Given the description of an element on the screen output the (x, y) to click on. 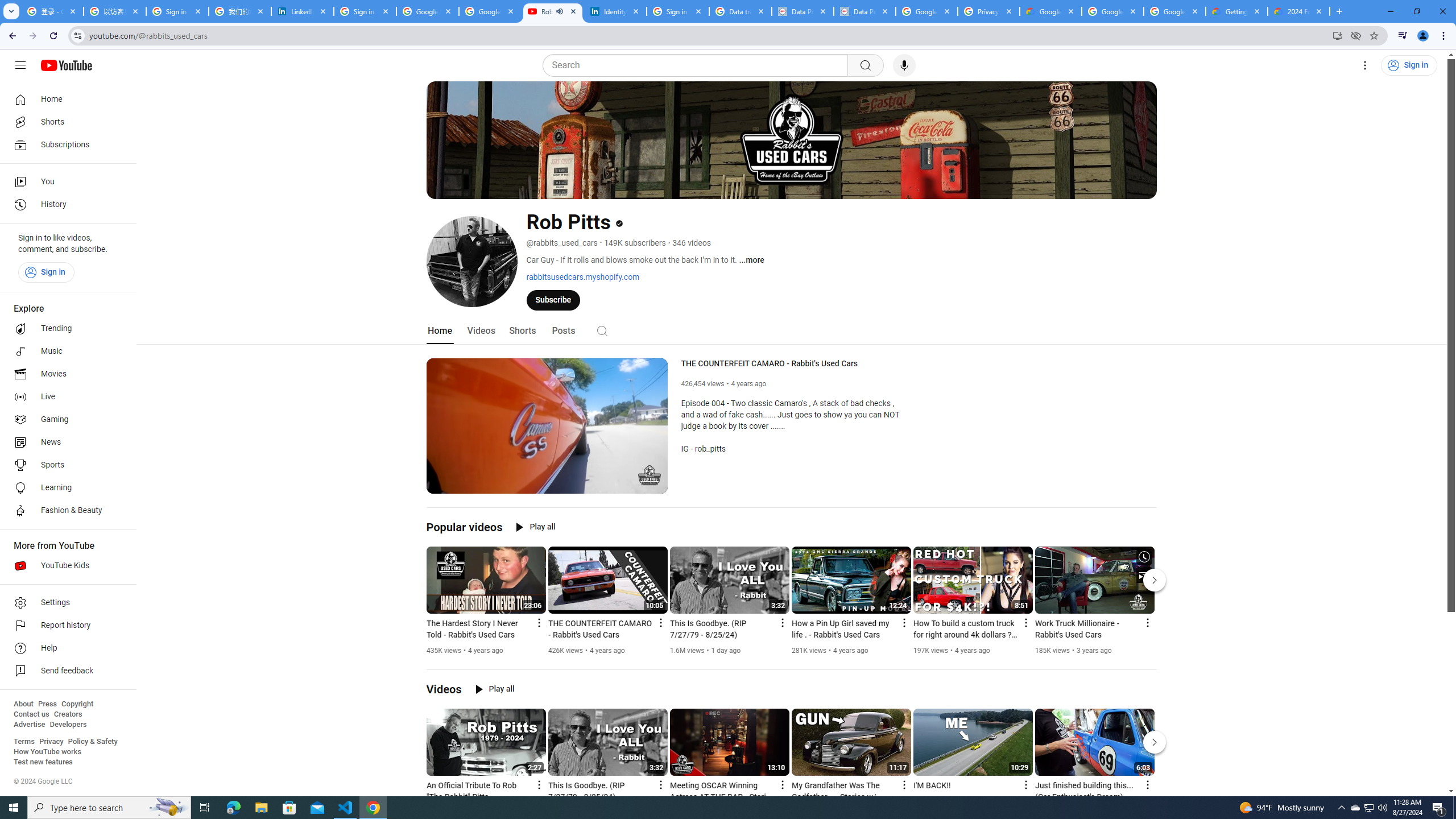
Shorts (64, 121)
